Given the description of an element on the screen output the (x, y) to click on. 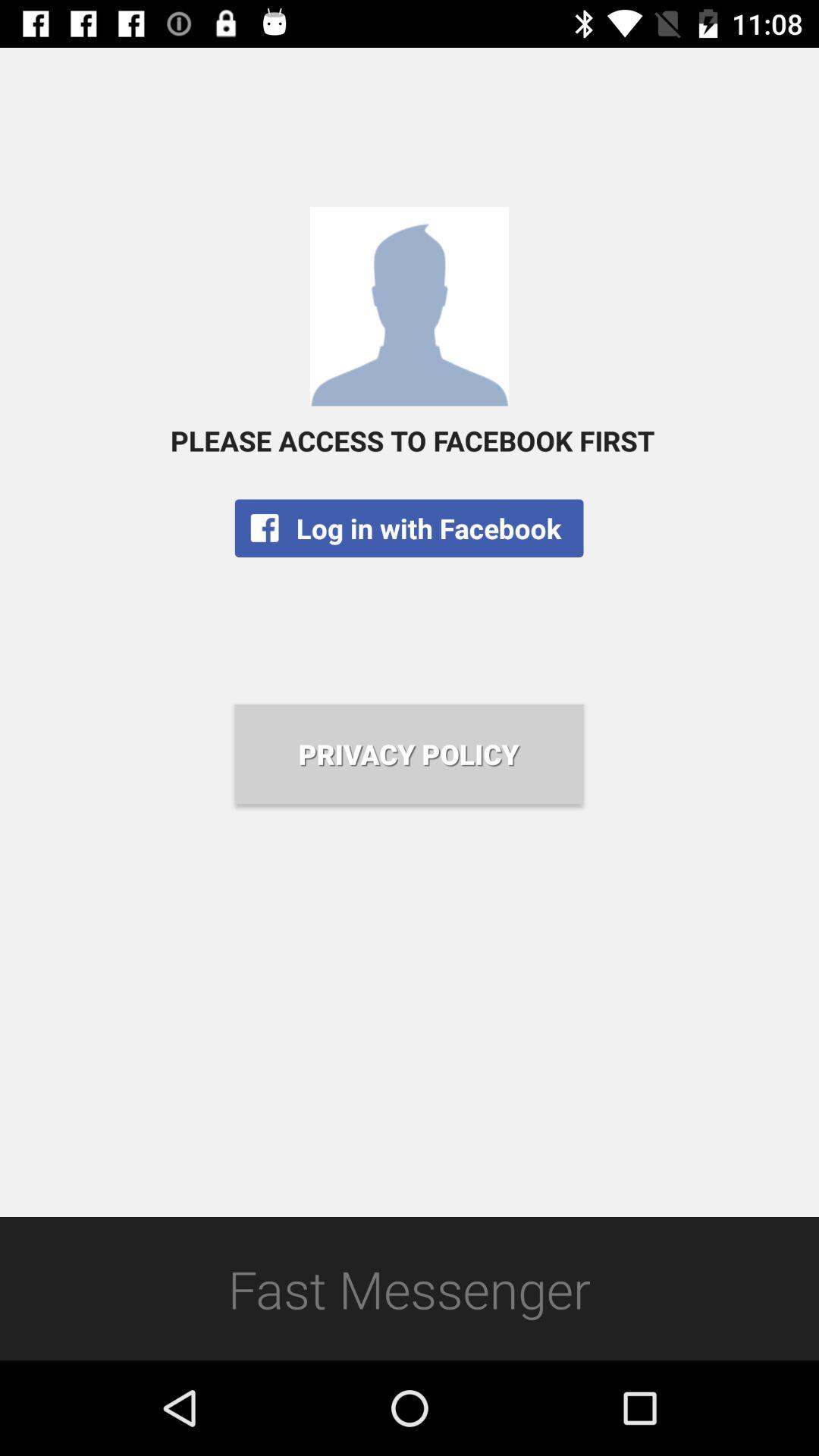
scroll to the log in with (408, 528)
